Given the description of an element on the screen output the (x, y) to click on. 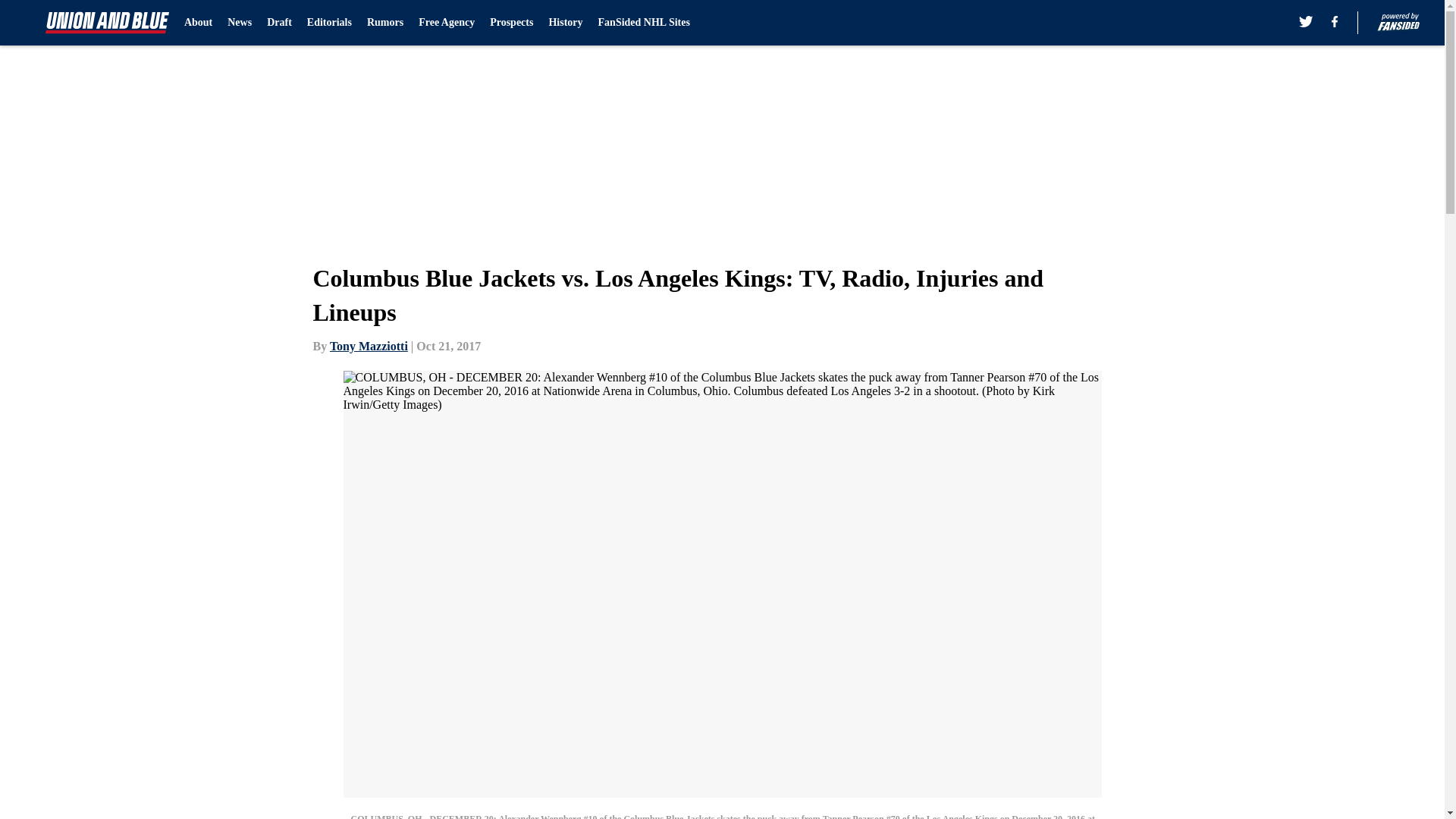
Draft (279, 22)
Free Agency (446, 22)
News (239, 22)
FanSided NHL Sites (644, 22)
Prospects (510, 22)
Editorials (329, 22)
History (565, 22)
About (198, 22)
Rumors (384, 22)
Tony Mazziotti (368, 345)
